Given the description of an element on the screen output the (x, y) to click on. 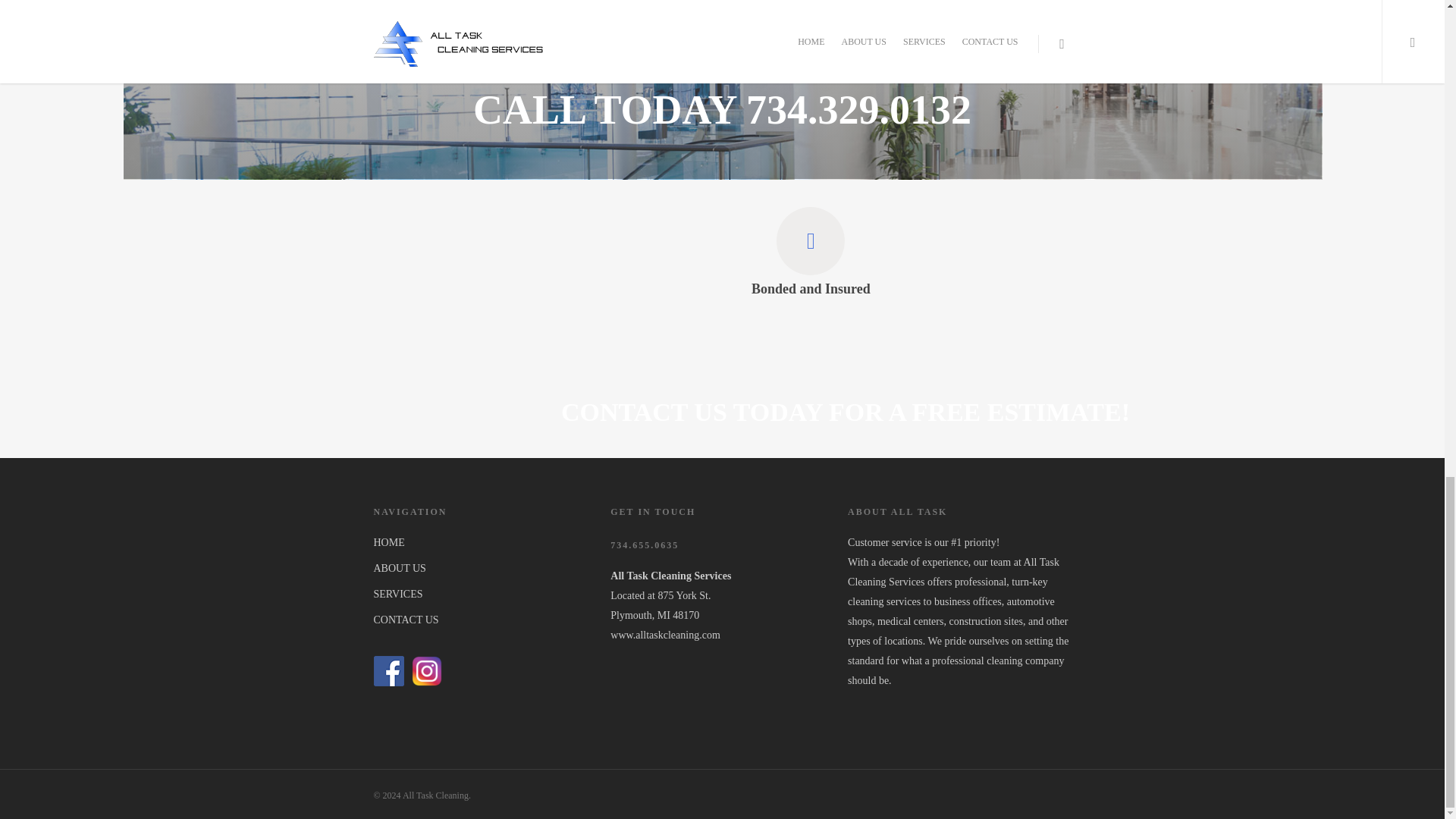
ABOUT US (483, 568)
CALL TODAY 734.329.0132 (722, 109)
SERVICES (483, 594)
Instagram (427, 671)
HOME (483, 542)
CONTACT US (483, 619)
